Given the description of an element on the screen output the (x, y) to click on. 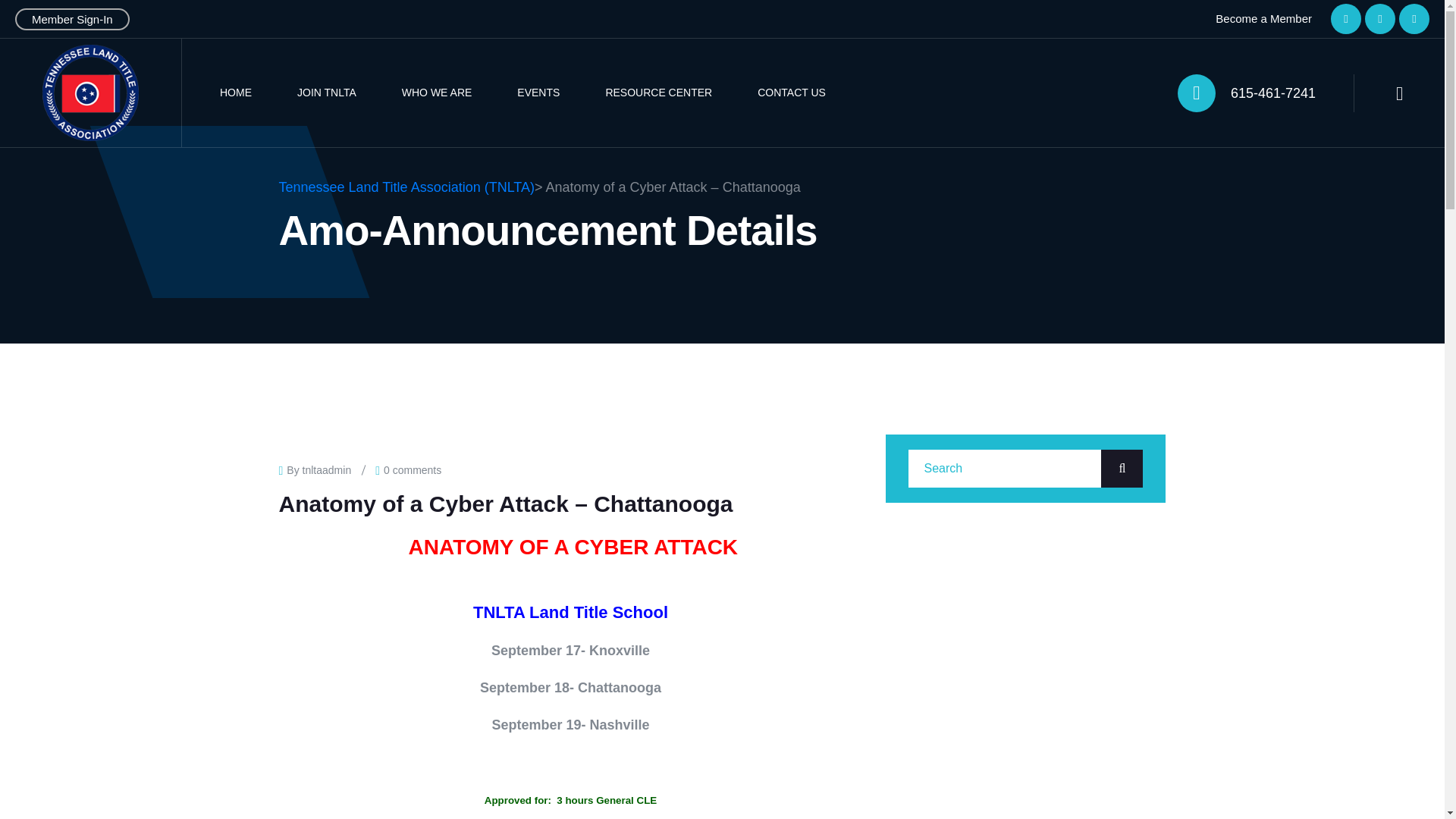
By tnltaadmin (318, 468)
0 comments (412, 468)
RESOURCE CENTER (658, 92)
Become a Member (1263, 19)
615-461-7241 (1273, 92)
Member Sign-In (71, 18)
